Given the description of an element on the screen output the (x, y) to click on. 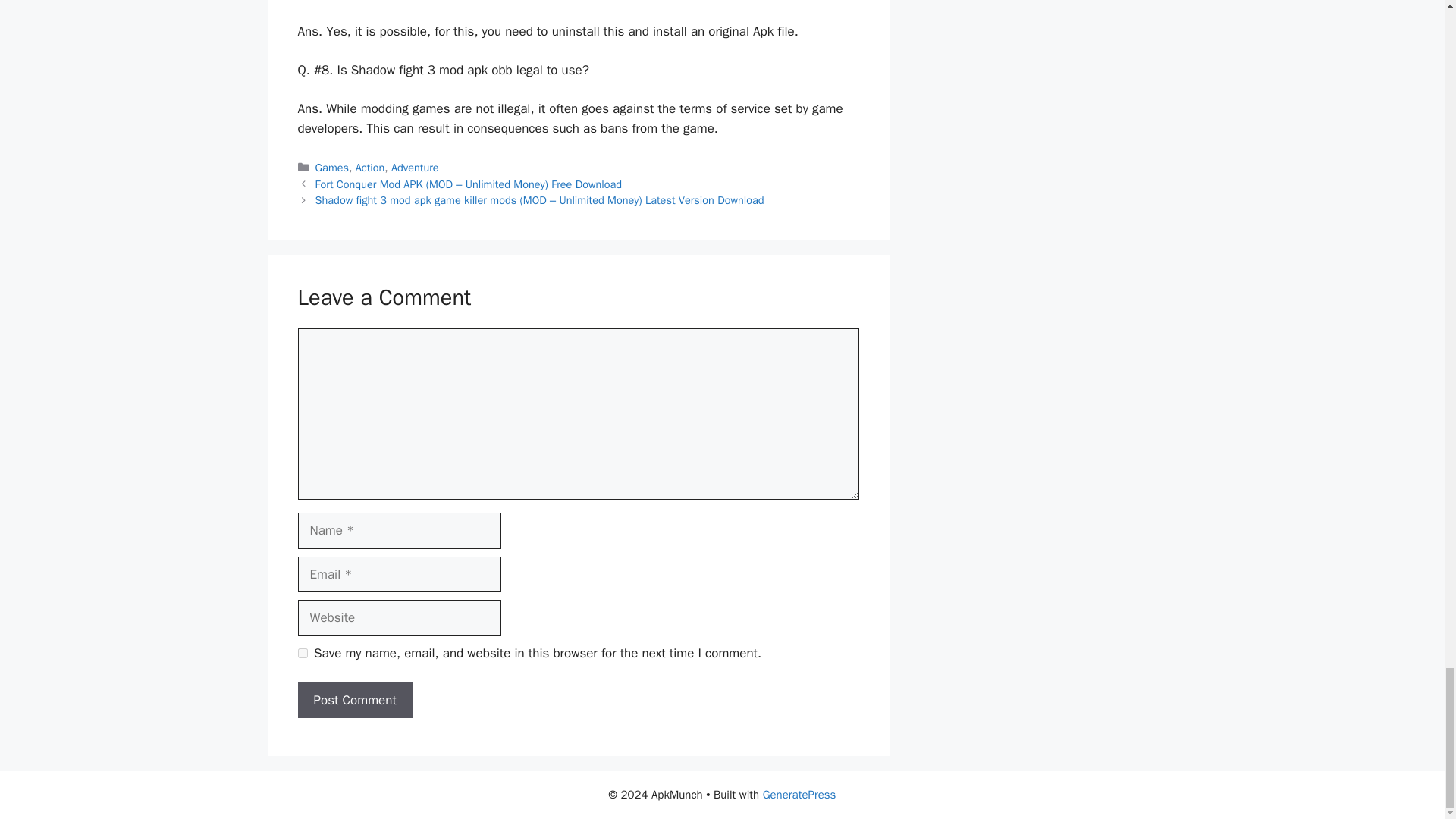
Action (370, 167)
Post Comment (354, 700)
yes (302, 653)
Post Comment (354, 700)
Adventure (415, 167)
Games (332, 167)
